Given the description of an element on the screen output the (x, y) to click on. 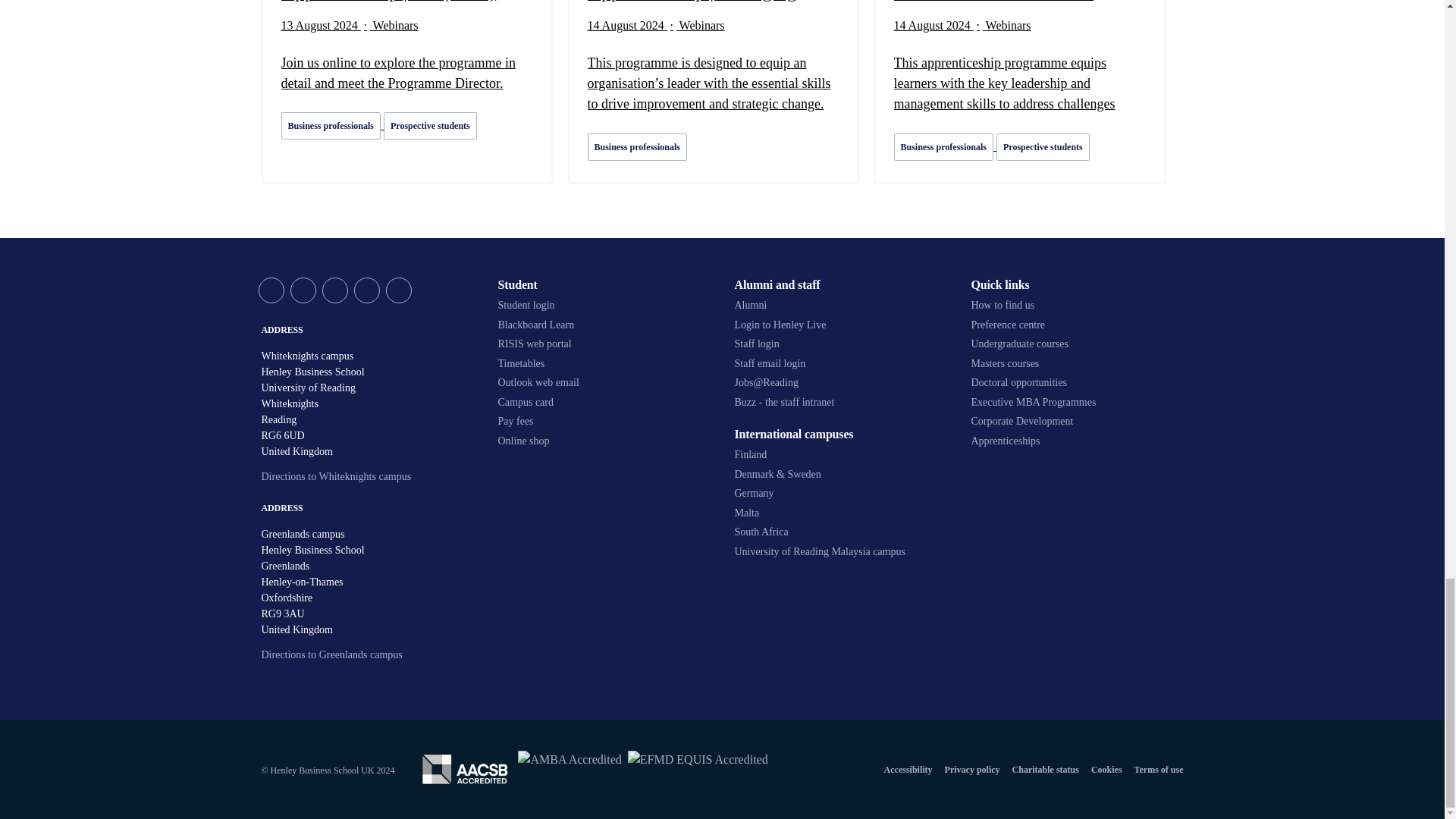
Directions to Greenlands campus (330, 654)
Outlook web email (603, 382)
Malta (839, 513)
Alumni (839, 305)
Twitter (270, 290)
Facebook (302, 290)
Germany (839, 493)
Campus card (603, 402)
Pay fees (603, 421)
Timetables (603, 364)
Blackboard Learn (603, 325)
Preference centre (1076, 325)
Staff email login (839, 364)
Staff login (839, 344)
Linkedin (365, 290)
